Given the description of an element on the screen output the (x, y) to click on. 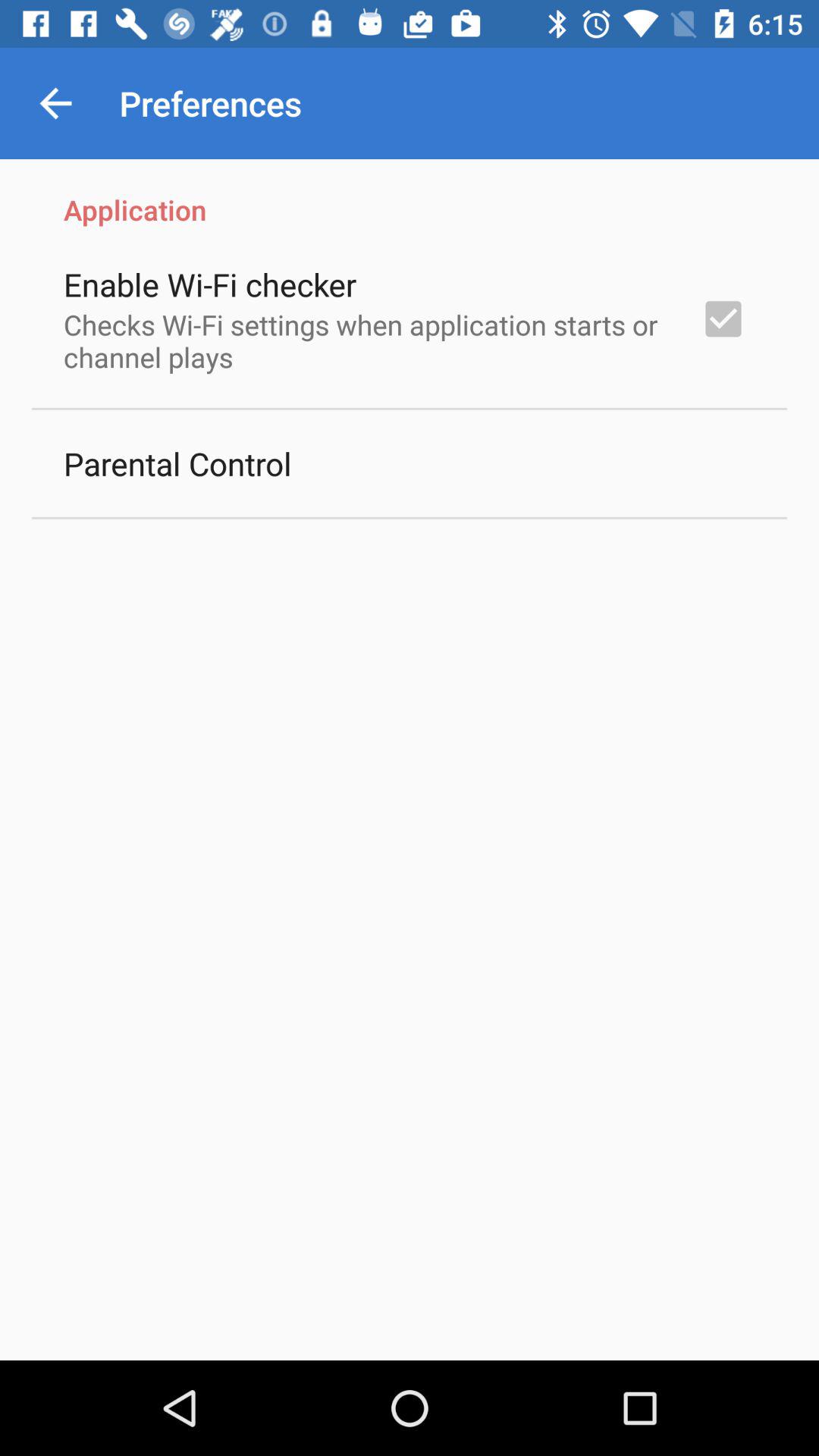
turn on item above the application item (55, 103)
